Given the description of an element on the screen output the (x, y) to click on. 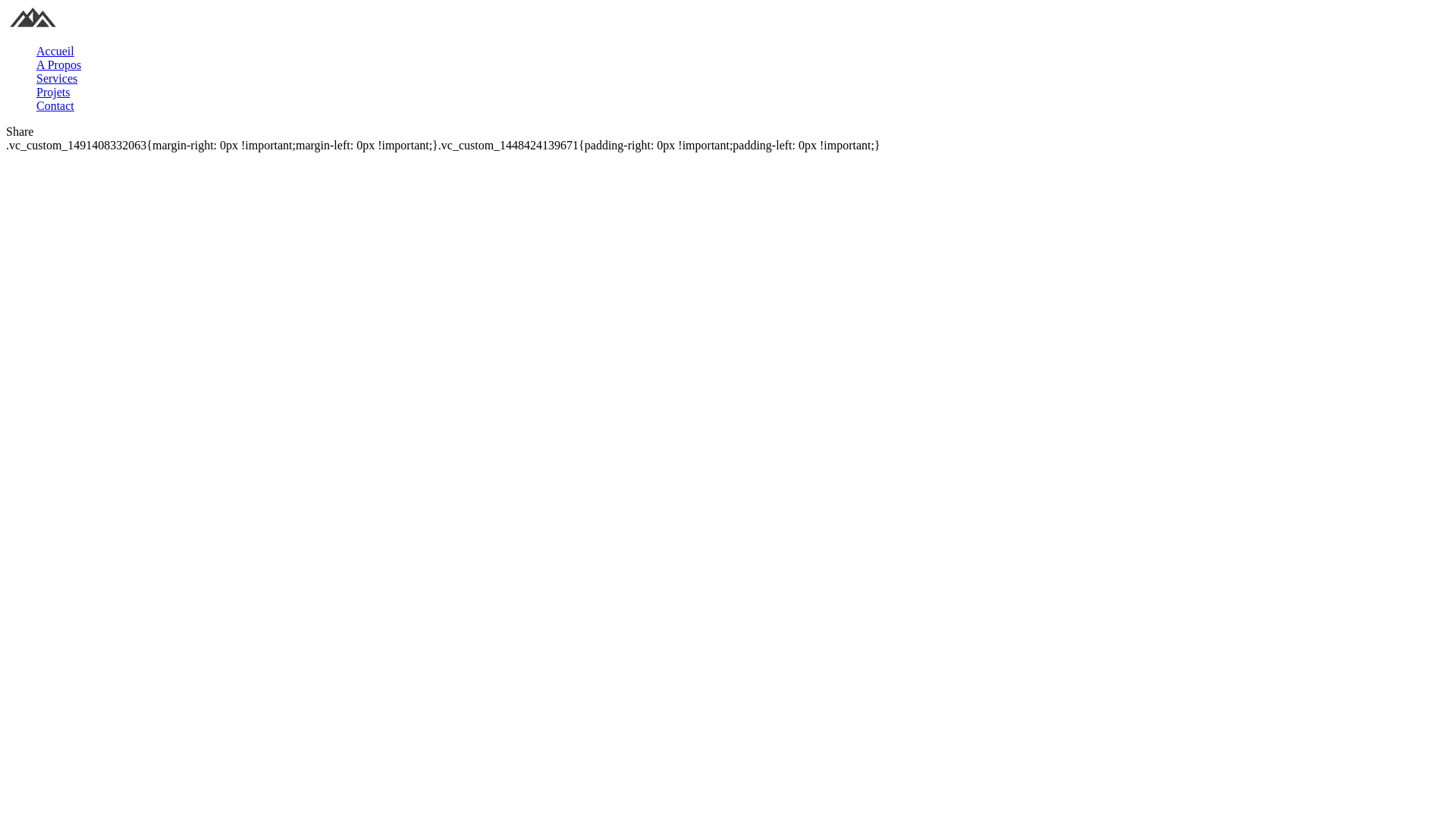
Contact Element type: text (55, 105)
Services Element type: text (56, 78)
A Propos Element type: text (58, 64)
Projets Element type: text (52, 91)
Accueil Element type: text (55, 50)
Share Element type: text (19, 131)
